Given the description of an element on the screen output the (x, y) to click on. 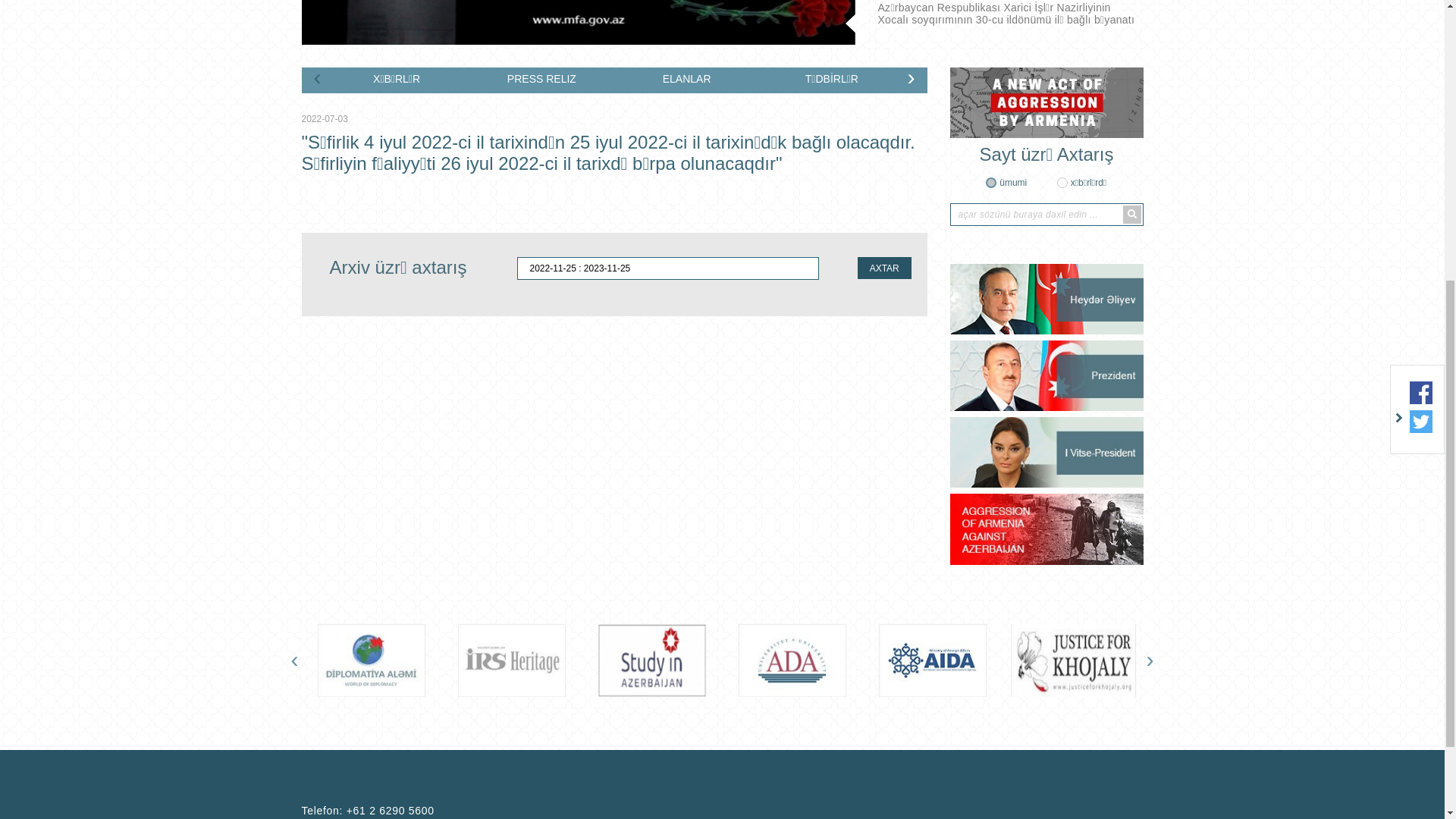
AZ Element type: text (1109, 103)
AXTAR Element type: text (884, 742)
PRESS RELIZ Element type: text (541, 552)
EN Element type: text (1132, 103)
ELANLAR Element type: text (686, 552)
